Given the description of an element on the screen output the (x, y) to click on. 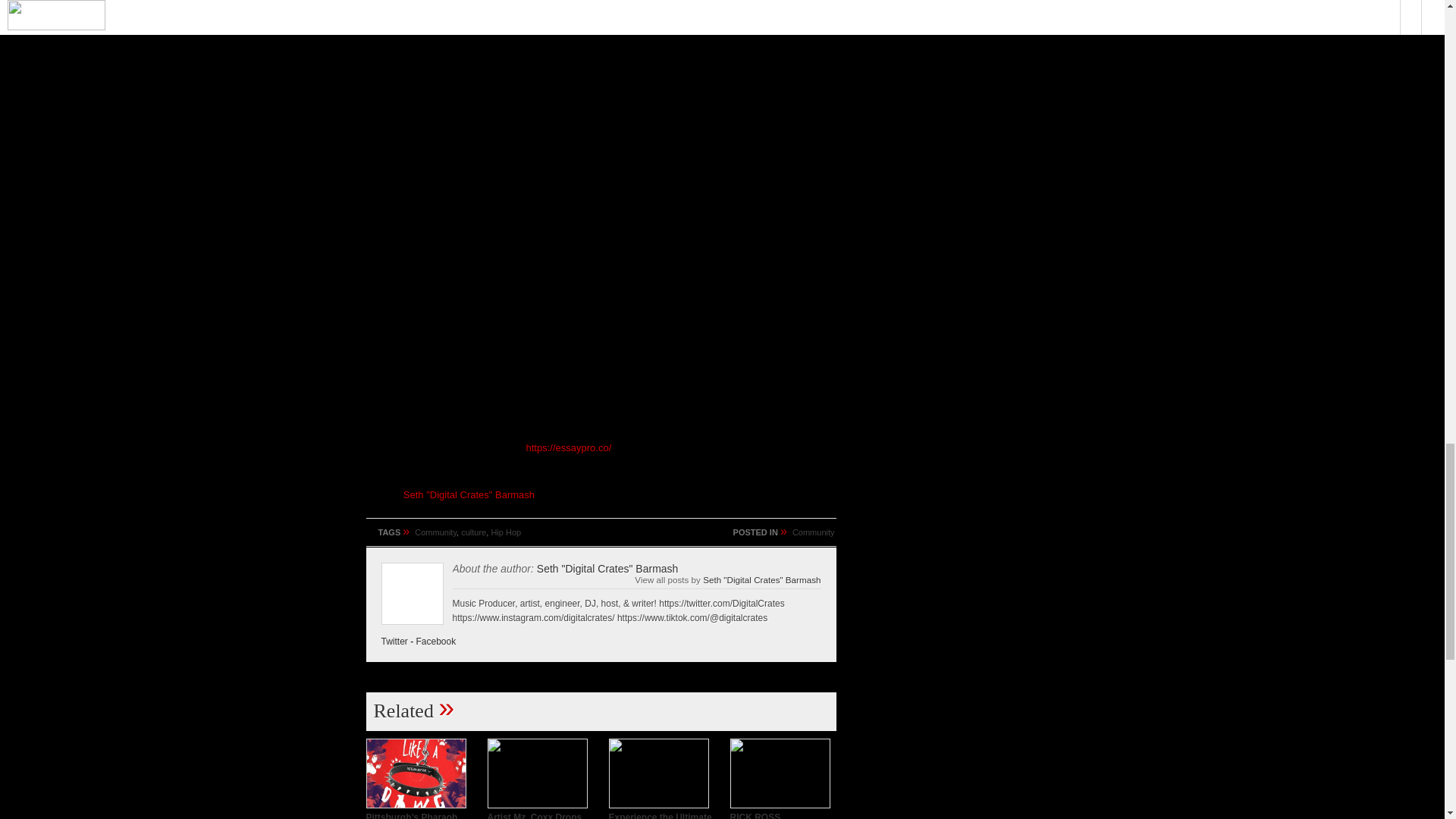
Twitter (393, 641)
Posts by Seth "Digital Crates" Barmash (468, 494)
Facebook (436, 641)
Posts by Seth "Digital Crates" Barmash (762, 579)
Seth "Digital Crates" Barmash (762, 579)
Community (813, 532)
Community (435, 532)
Posts by Seth "Digital Crates" Barmash (607, 568)
Seth "Digital Crates" Barmash (468, 494)
